Given the description of an element on the screen output the (x, y) to click on. 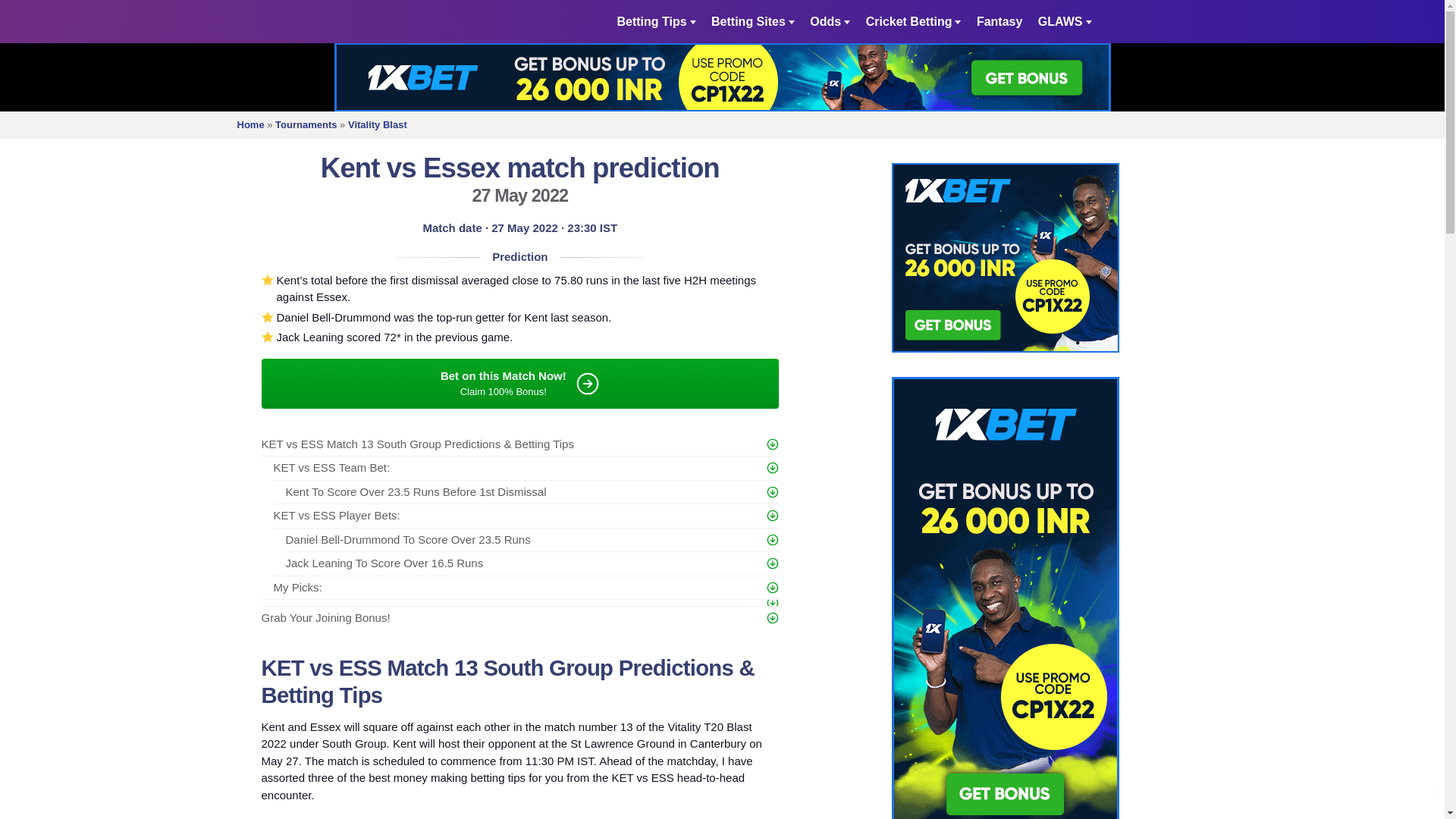
Betting Tips (655, 21)
Odds (829, 21)
Fantasy (999, 21)
Betting Sites (752, 21)
Cricket Betting (913, 21)
GLAWS (1065, 21)
